Given the description of an element on the screen output the (x, y) to click on. 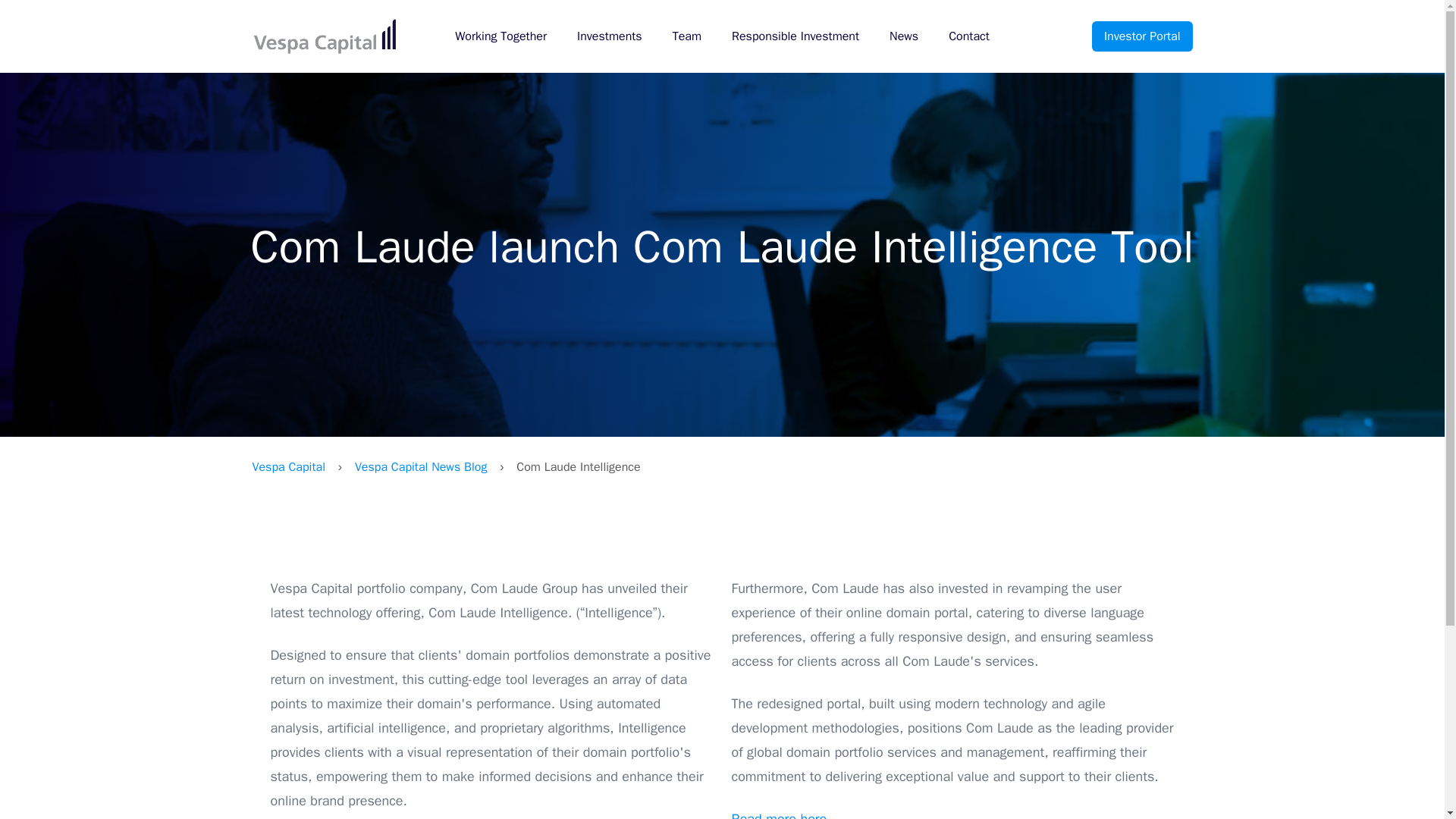
Investments (609, 36)
Working Together (500, 36)
Vespa Capital (287, 467)
Team (686, 36)
Responsible Investment (795, 36)
Read more here  (779, 814)
Vespa Capital (323, 36)
Investments (609, 36)
News (903, 36)
News (903, 36)
